Given the description of an element on the screen output the (x, y) to click on. 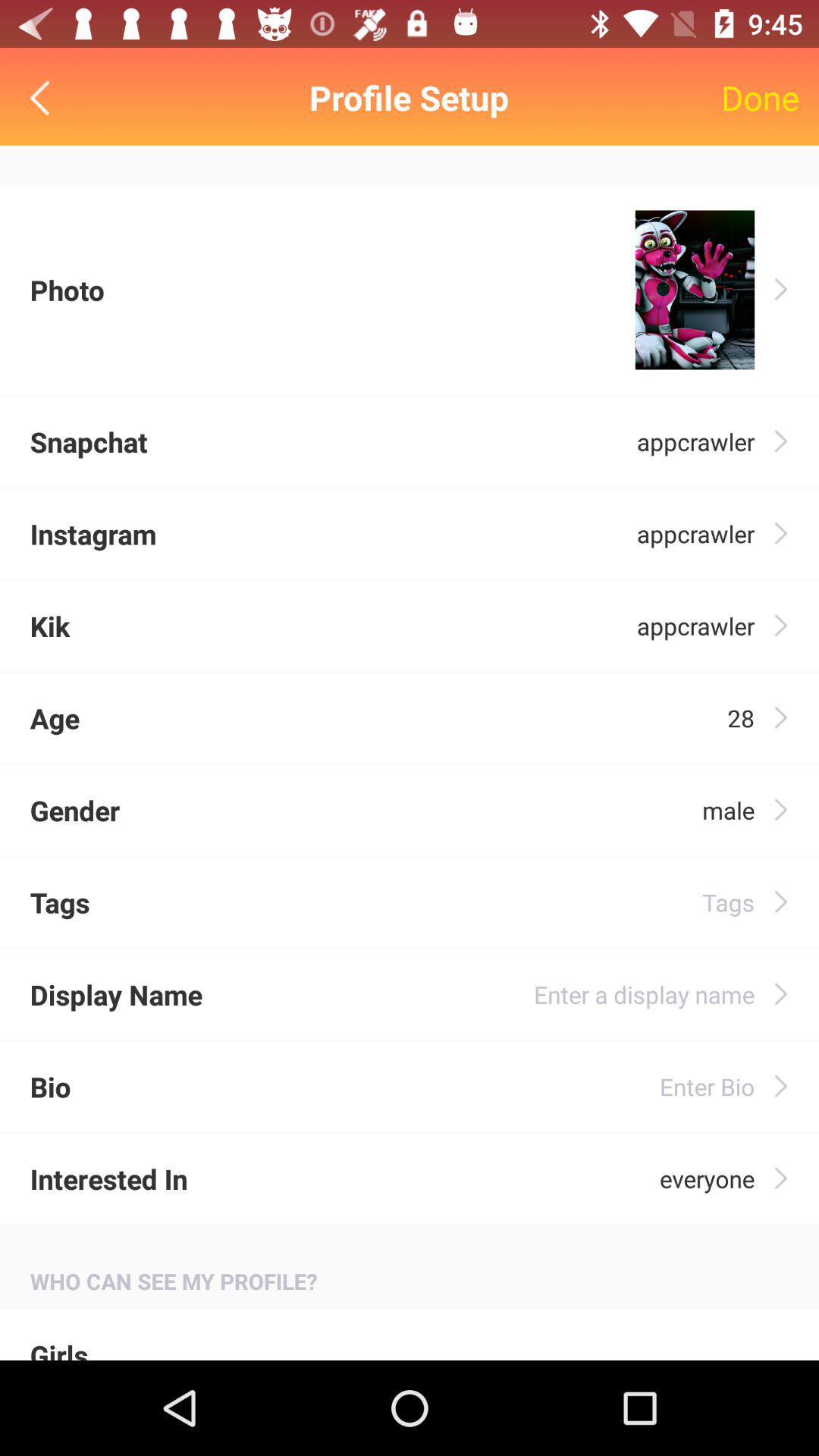
turn on the item above photo icon (43, 97)
